Given the description of an element on the screen output the (x, y) to click on. 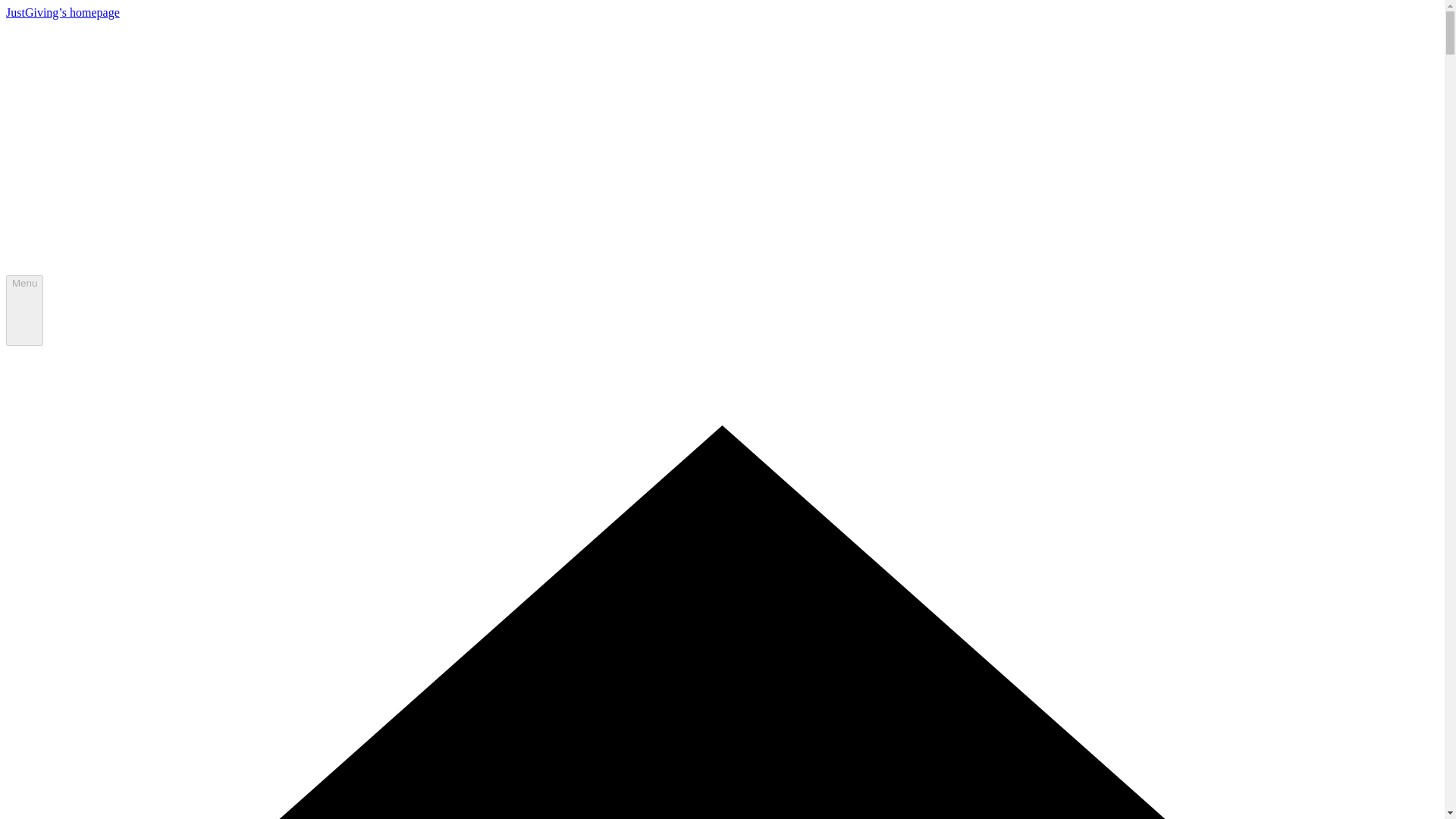
Menu (24, 310)
